Given the description of an element on the screen output the (x, y) to click on. 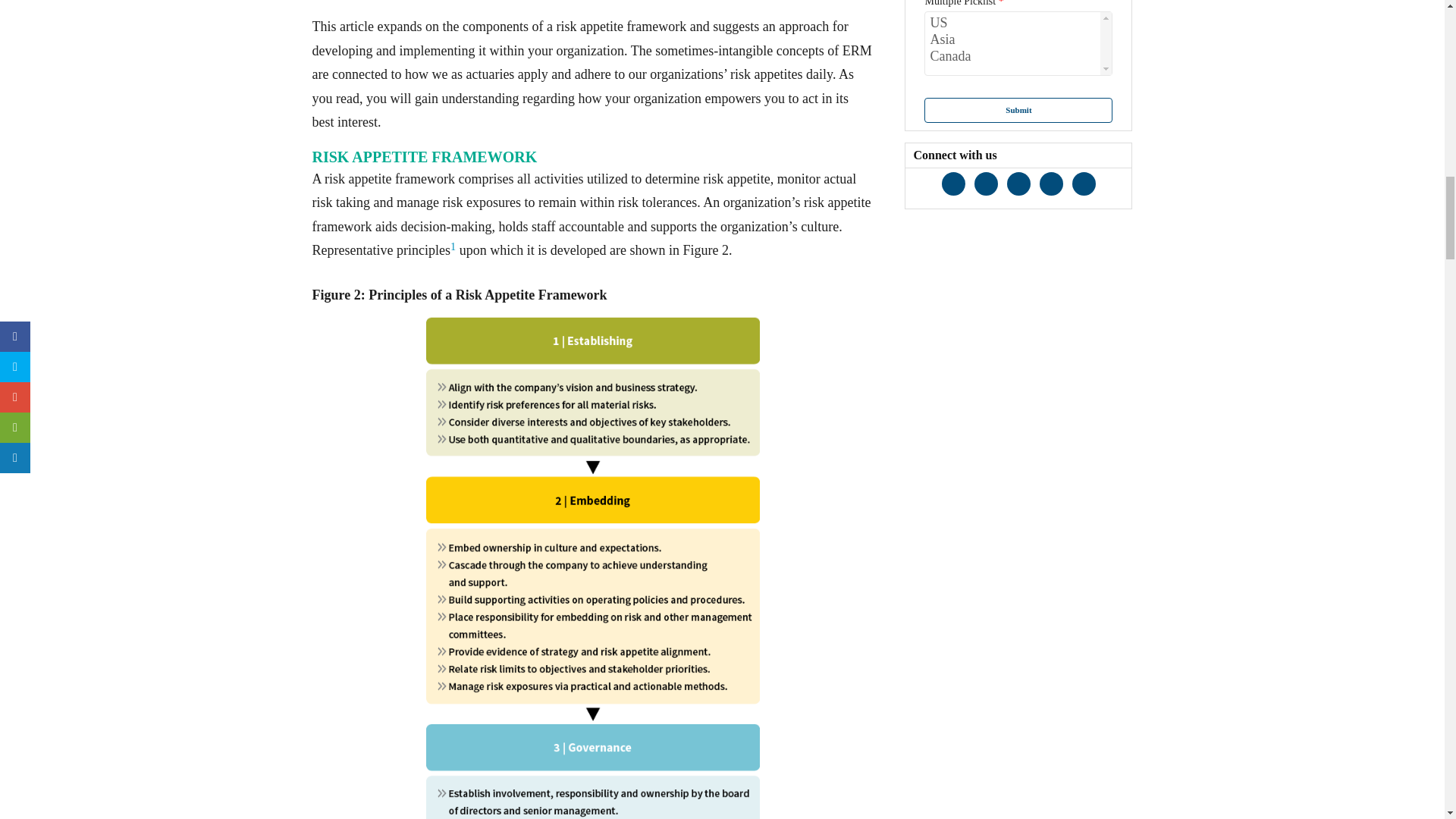
Submit (1018, 109)
